Given the description of an element on the screen output the (x, y) to click on. 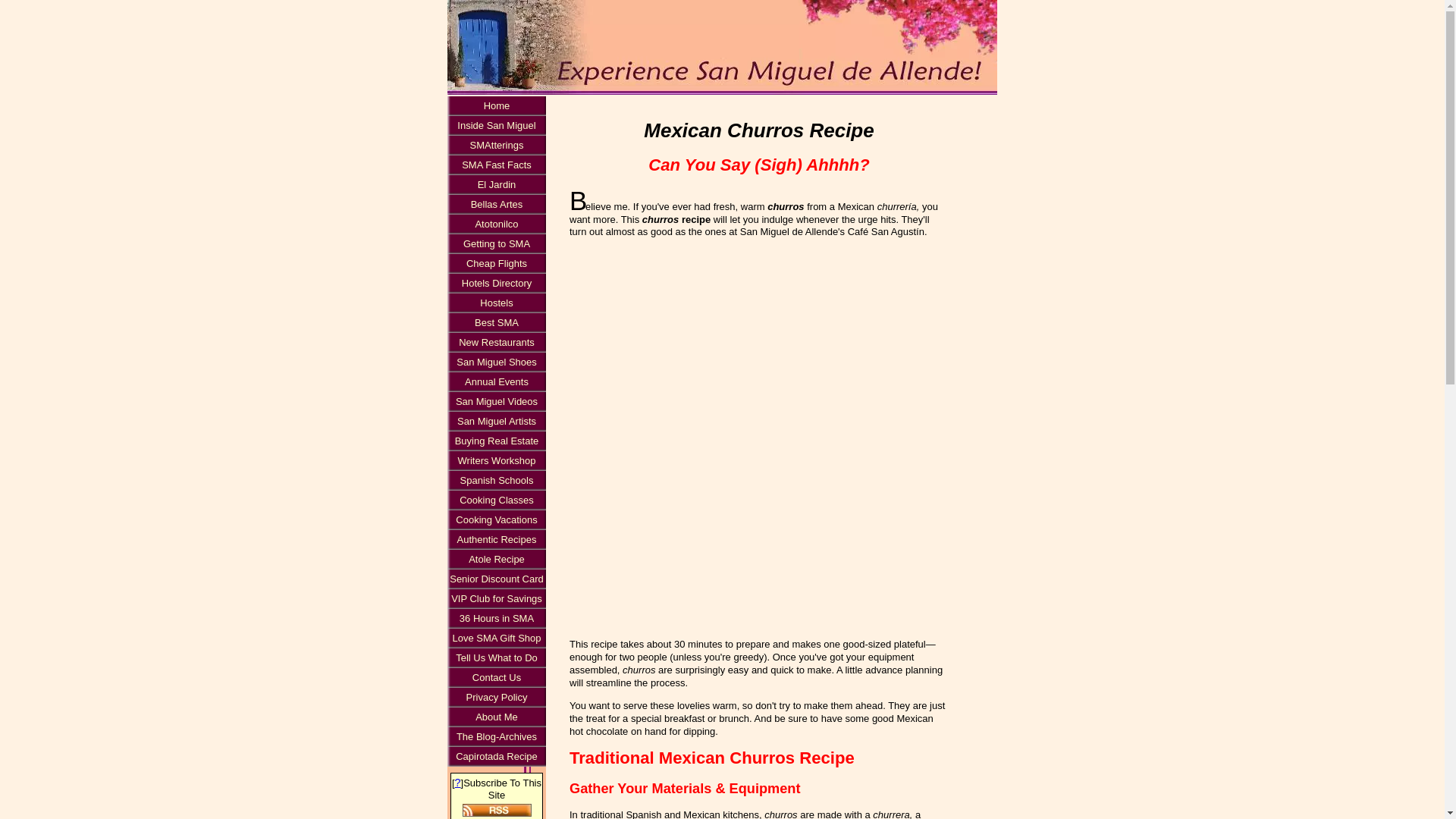
Bellas Artes (496, 204)
Authentic Recipes (496, 539)
Contact Us (496, 677)
Atole Recipe (496, 559)
Atotonilco (496, 224)
The Blog-Archives (496, 736)
Spanish Schools (496, 480)
Senior Discount Card (496, 578)
New Restaurants (496, 342)
Cheap Flights (496, 263)
